Given the description of an element on the screen output the (x, y) to click on. 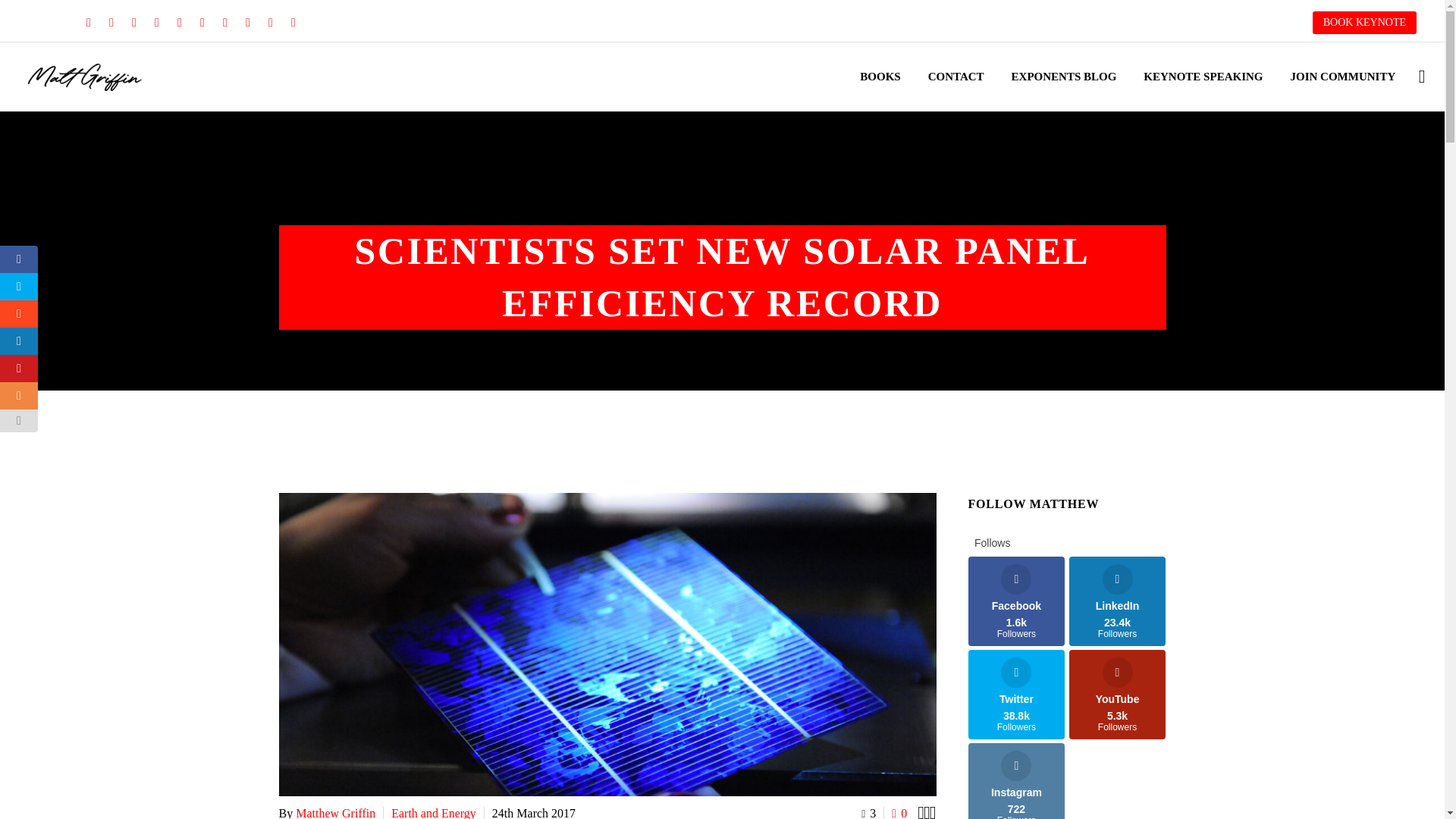
LinkedIn (111, 22)
BOOKS (879, 76)
Matthew Griffin (335, 812)
Instagram (156, 22)
KEYNOTE SPEAKING (1203, 76)
Facebook (88, 22)
3 (868, 812)
CONTACT (956, 76)
0 (899, 811)
Spotify (270, 22)
JOIN COMMUNITY (1342, 76)
TikTok (293, 22)
Previous post (920, 811)
Vimeo (202, 22)
EXPONENTS BLOG (1064, 76)
